Given the description of an element on the screen output the (x, y) to click on. 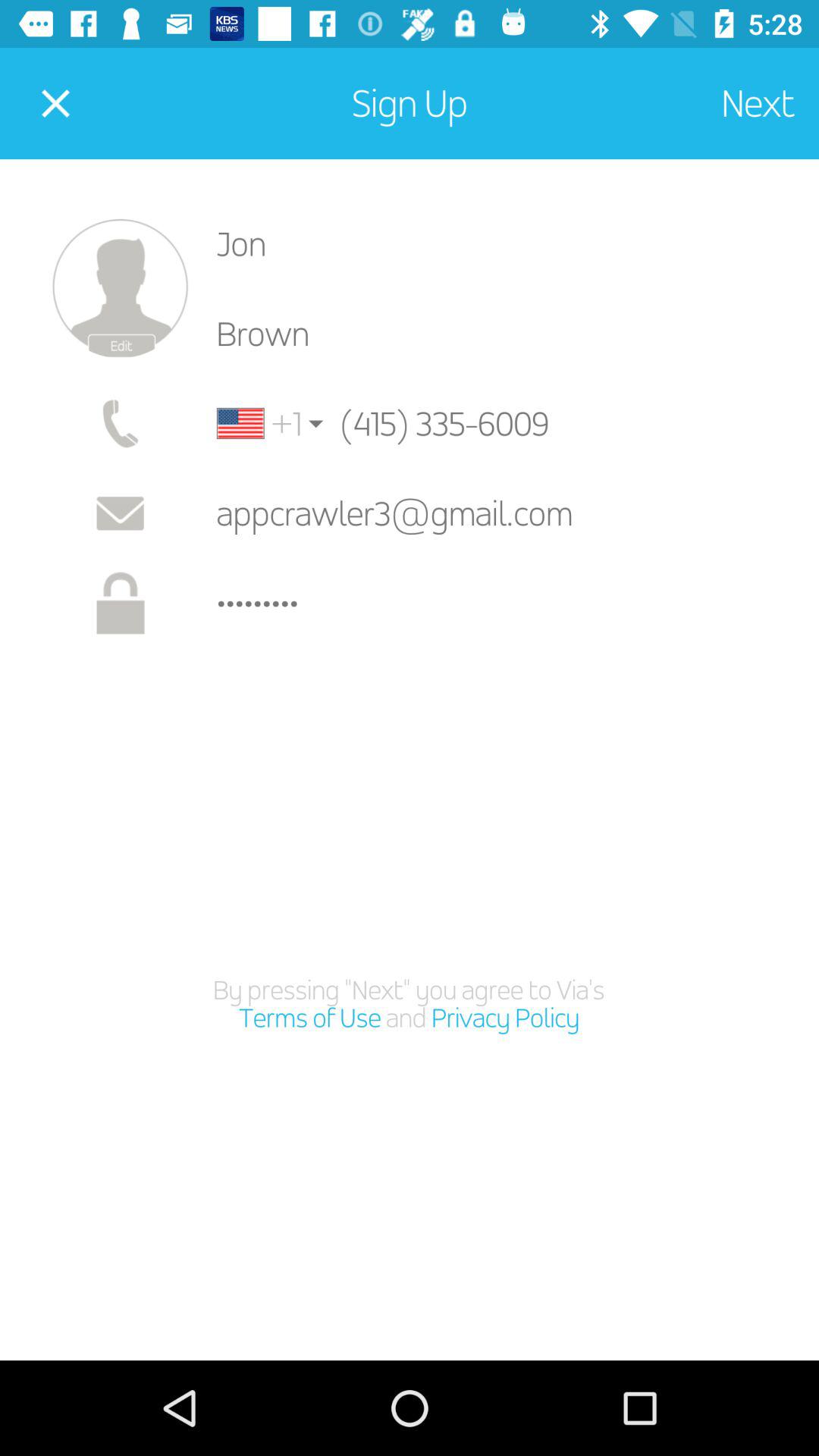
tap the item to the left of the jon item (119, 288)
